Given the description of an element on the screen output the (x, y) to click on. 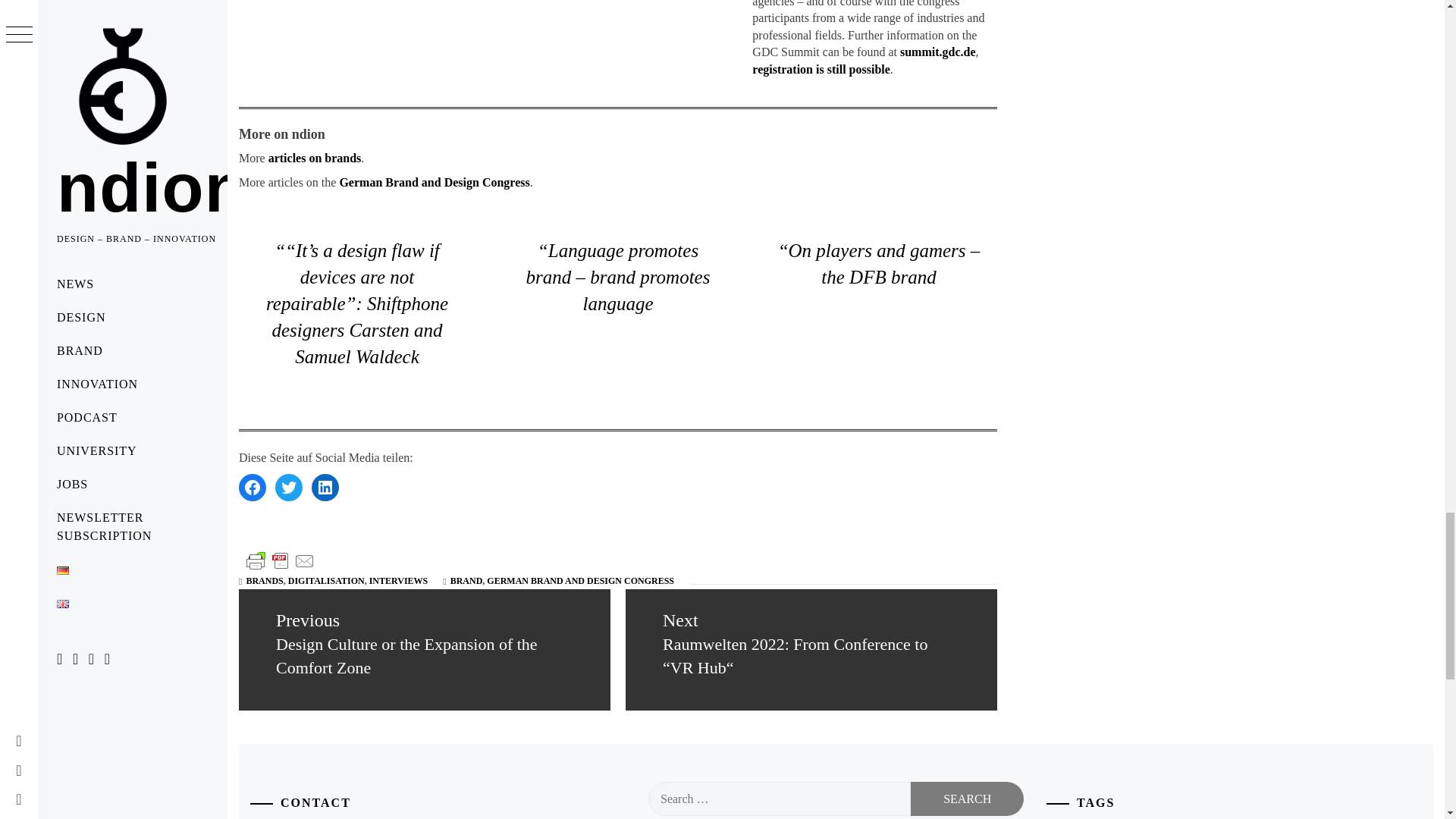
German Brand and Design Congress (434, 182)
DIGITALISATION (326, 580)
summit.gdc.de (937, 51)
articles on brands (314, 157)
Facebook (252, 487)
registration is still possible (820, 69)
LinkedIn (325, 487)
Search (967, 798)
BRANDS (264, 580)
Twitter (288, 487)
Search (967, 798)
